Given the description of an element on the screen output the (x, y) to click on. 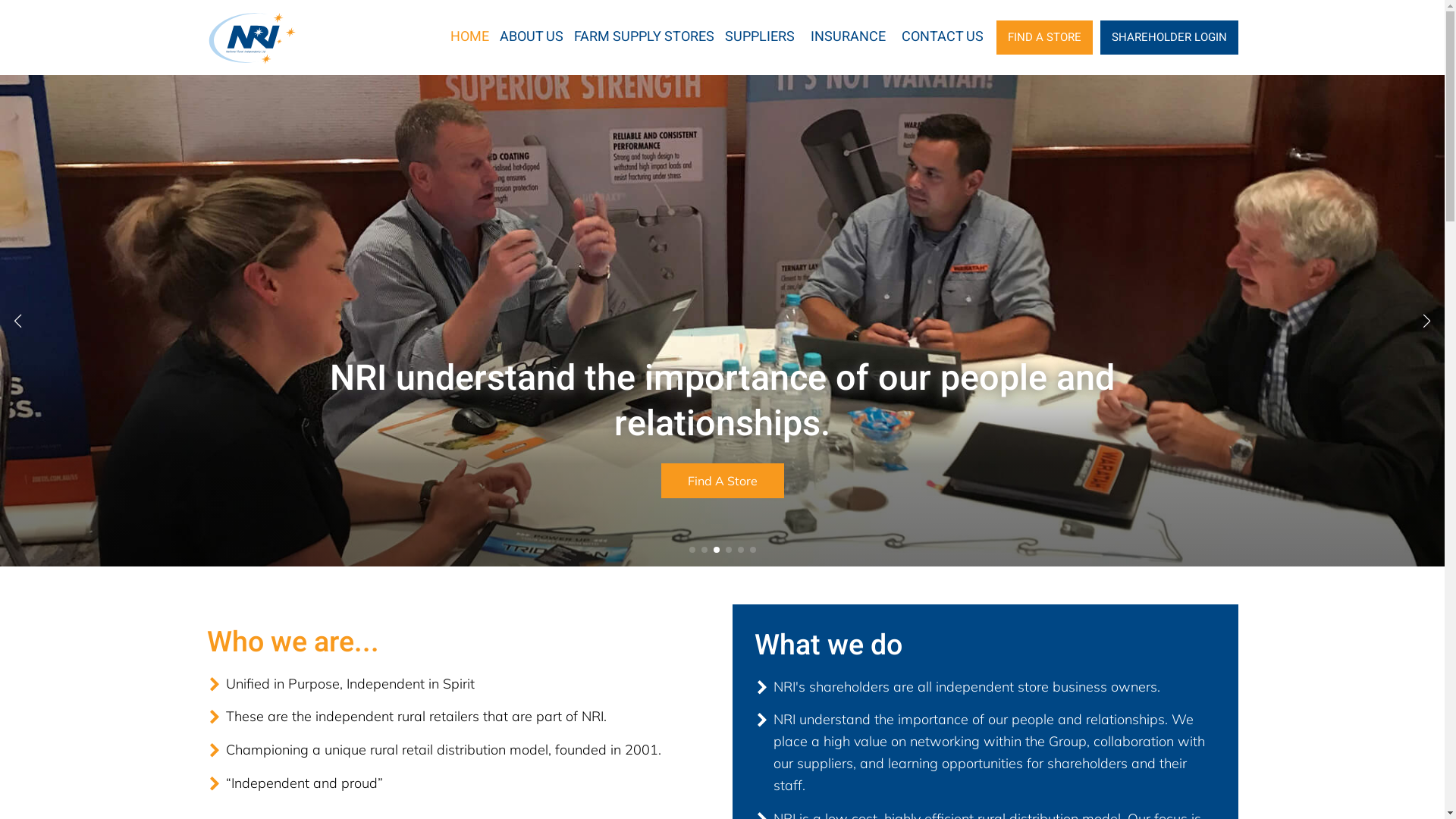
FARM SUPPLY STORES Element type: text (643, 37)
Find A Store Element type: text (722, 480)
SHAREHOLDER LOGIN Element type: text (1168, 37)
SUPPLIERS Element type: text (759, 37)
INSURANCE Element type: text (848, 37)
FIND A STORE Element type: text (1044, 37)
ABOUT US Element type: text (530, 37)
HOME Element type: text (469, 37)
CONTACT US Element type: text (941, 37)
